Given the description of an element on the screen output the (x, y) to click on. 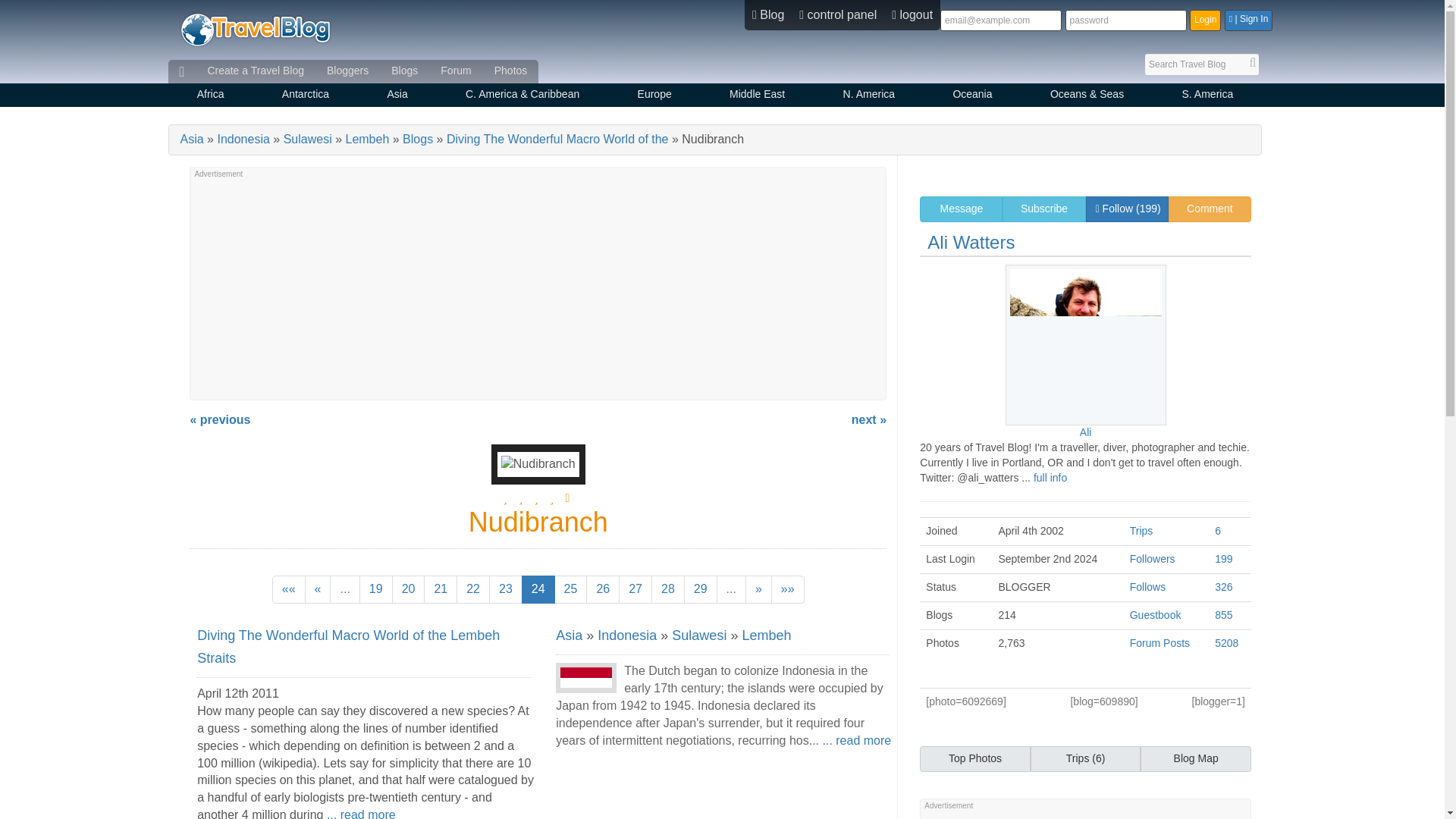
Blogs (404, 71)
Sign in with Facebook (1248, 20)
Nudibranch (538, 464)
Africa (210, 95)
Bloggers (347, 71)
Previous (317, 589)
Last (788, 589)
Oceania (972, 95)
Create a Travel Blog (255, 71)
Blog (768, 15)
